Given the description of an element on the screen output the (x, y) to click on. 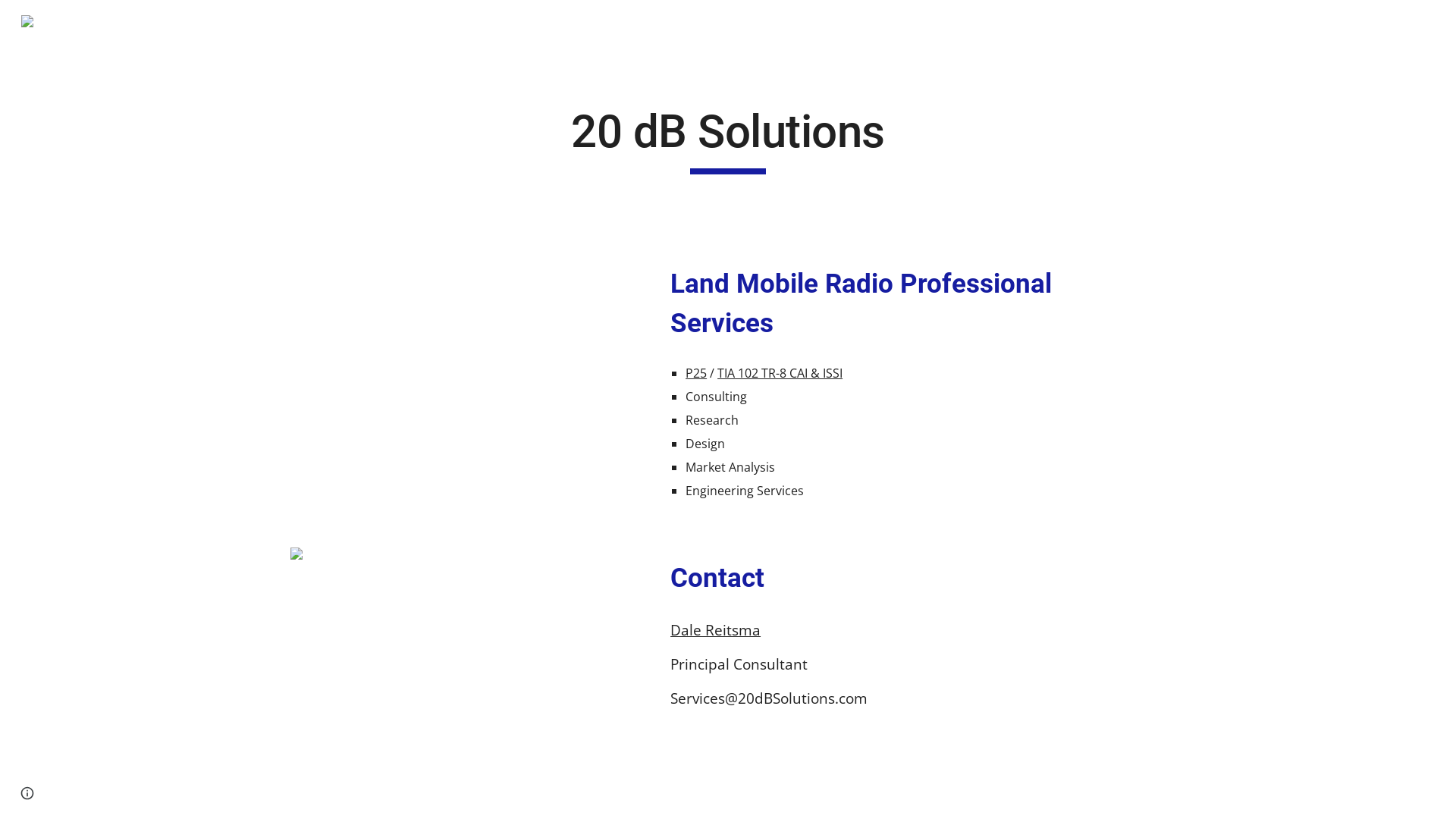
TIA 102 TR-8 CAI & ISSI Element type: text (779, 372)
P25 Element type: text (695, 372)
Dale Reitsma Element type: text (715, 629)
